Given the description of an element on the screen output the (x, y) to click on. 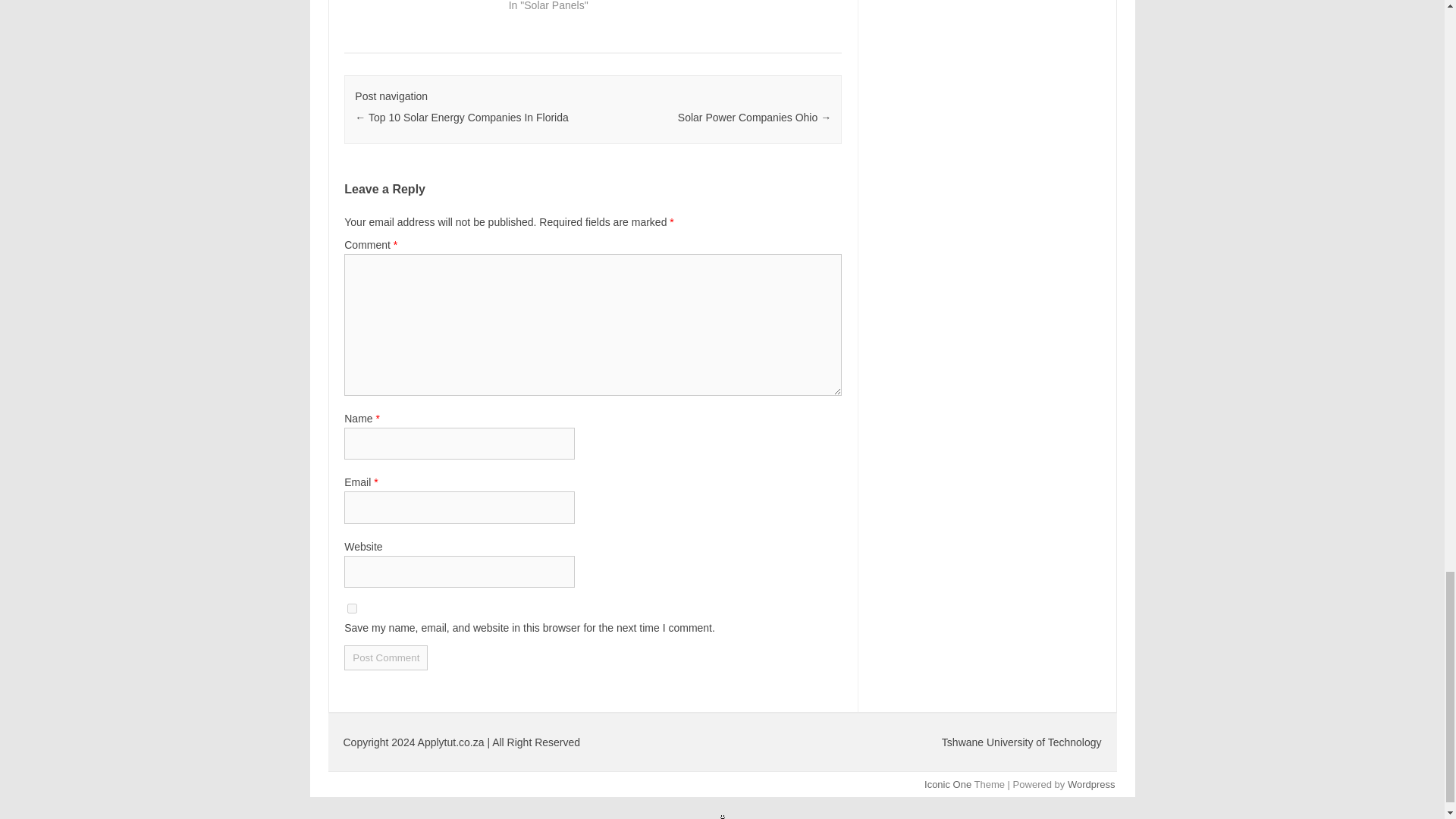
yes (351, 608)
Post Comment (385, 657)
Post Comment (385, 657)
